Given the description of an element on the screen output the (x, y) to click on. 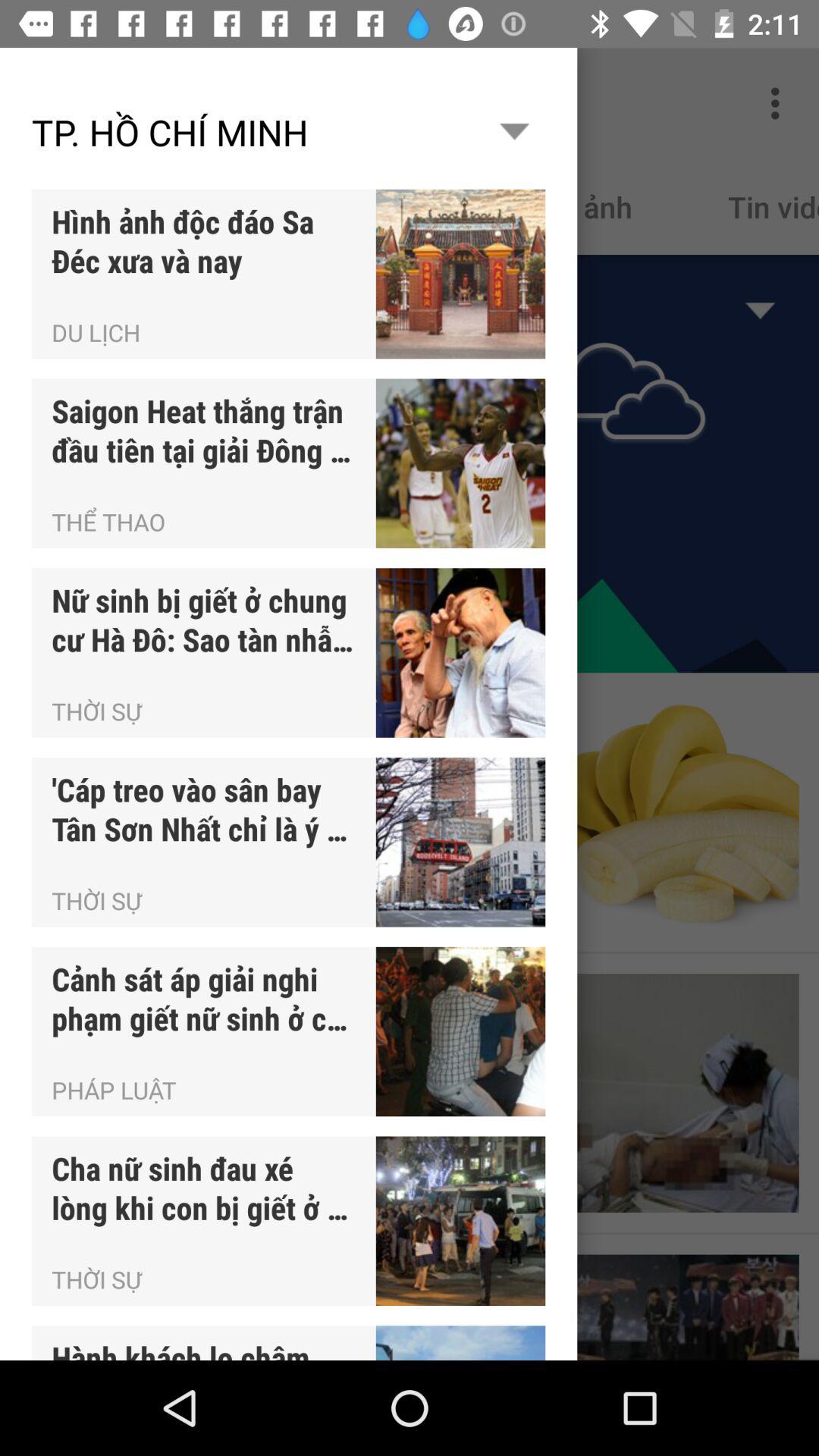
choose the bottom right corner image (679, 1307)
